Given the description of an element on the screen output the (x, y) to click on. 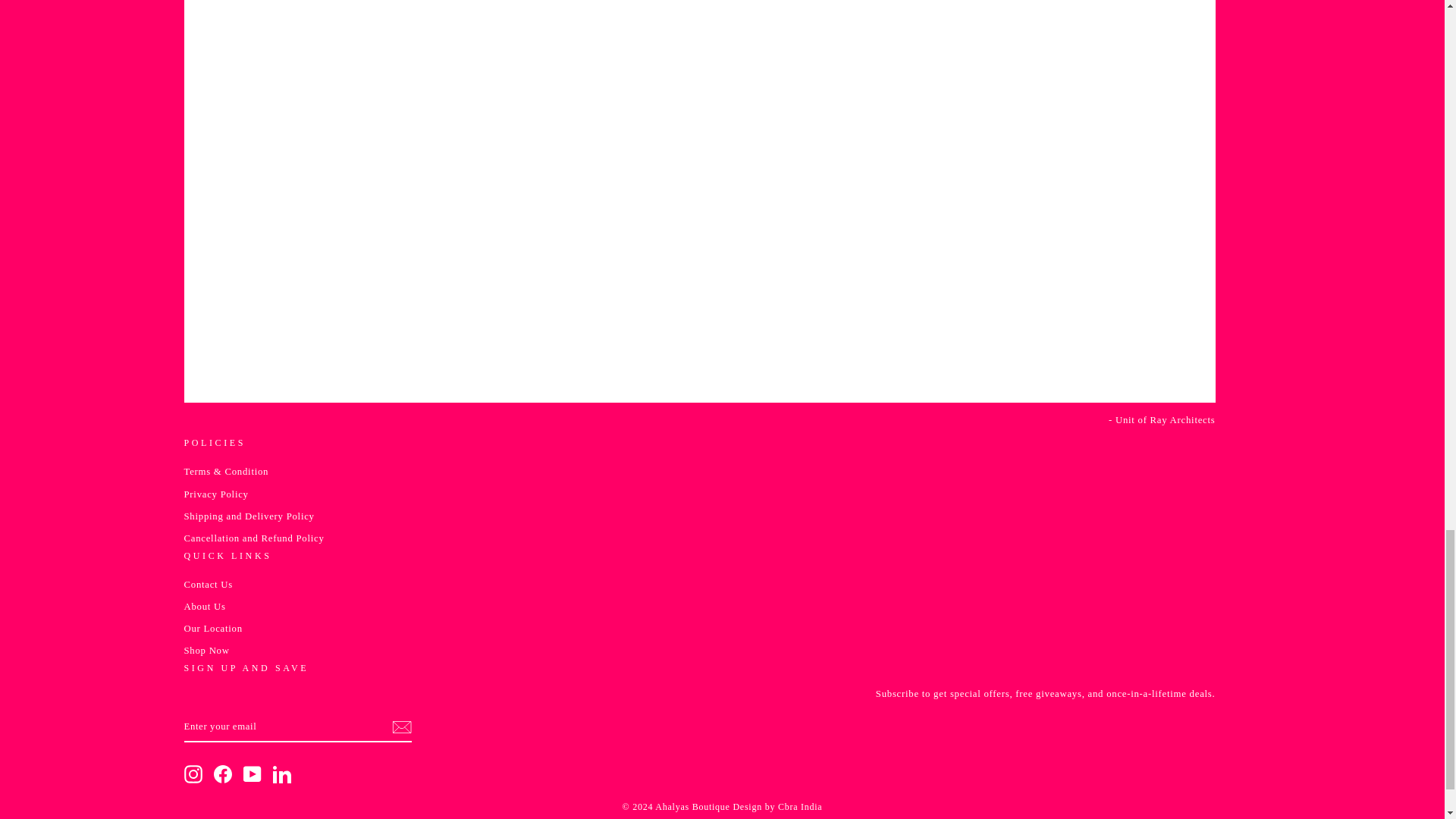
Ahalyas Boutique on Instagram (192, 773)
instagram (192, 773)
Ahalyas Boutique on LinkedIn (282, 773)
icon-email (400, 727)
Ahalyas Boutique on Facebook (222, 773)
Ahalyas Boutique on YouTube (251, 773)
